Given the description of an element on the screen output the (x, y) to click on. 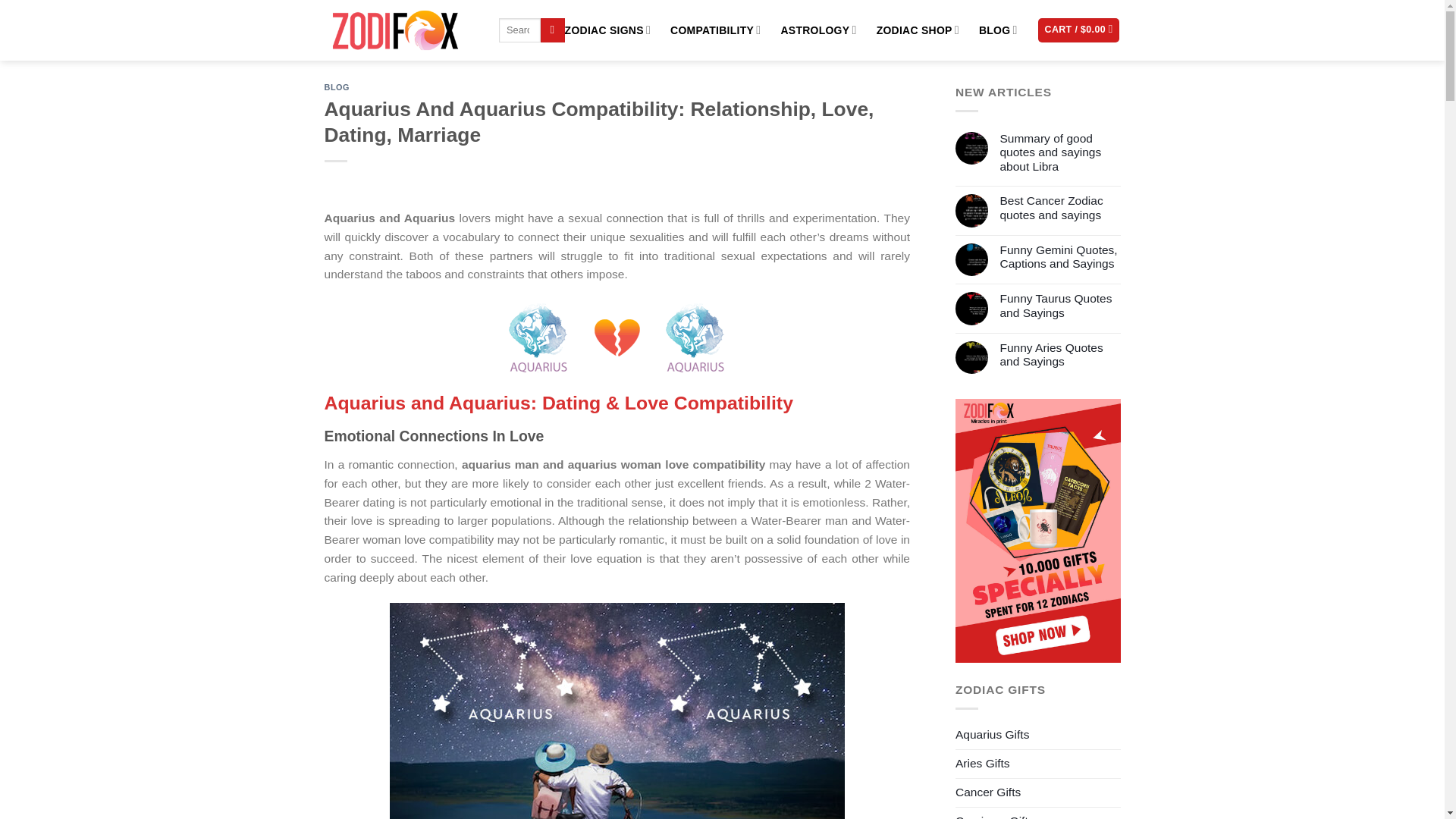
Funny Gemini Quotes, Captions and Sayings (1058, 257)
ASTROLOGY (818, 30)
Summary of good quotes and sayings about Libra (1058, 152)
COMPATIBILITY (714, 30)
Search (552, 30)
Cart (1078, 30)
Best Cancer Zodiac quotes and sayings (1058, 207)
Funny Aries Quotes and Sayings (1058, 355)
Funny Taurus Quotes and Sayings (1058, 305)
ZODIAC SHOP (917, 30)
